Given the description of an element on the screen output the (x, y) to click on. 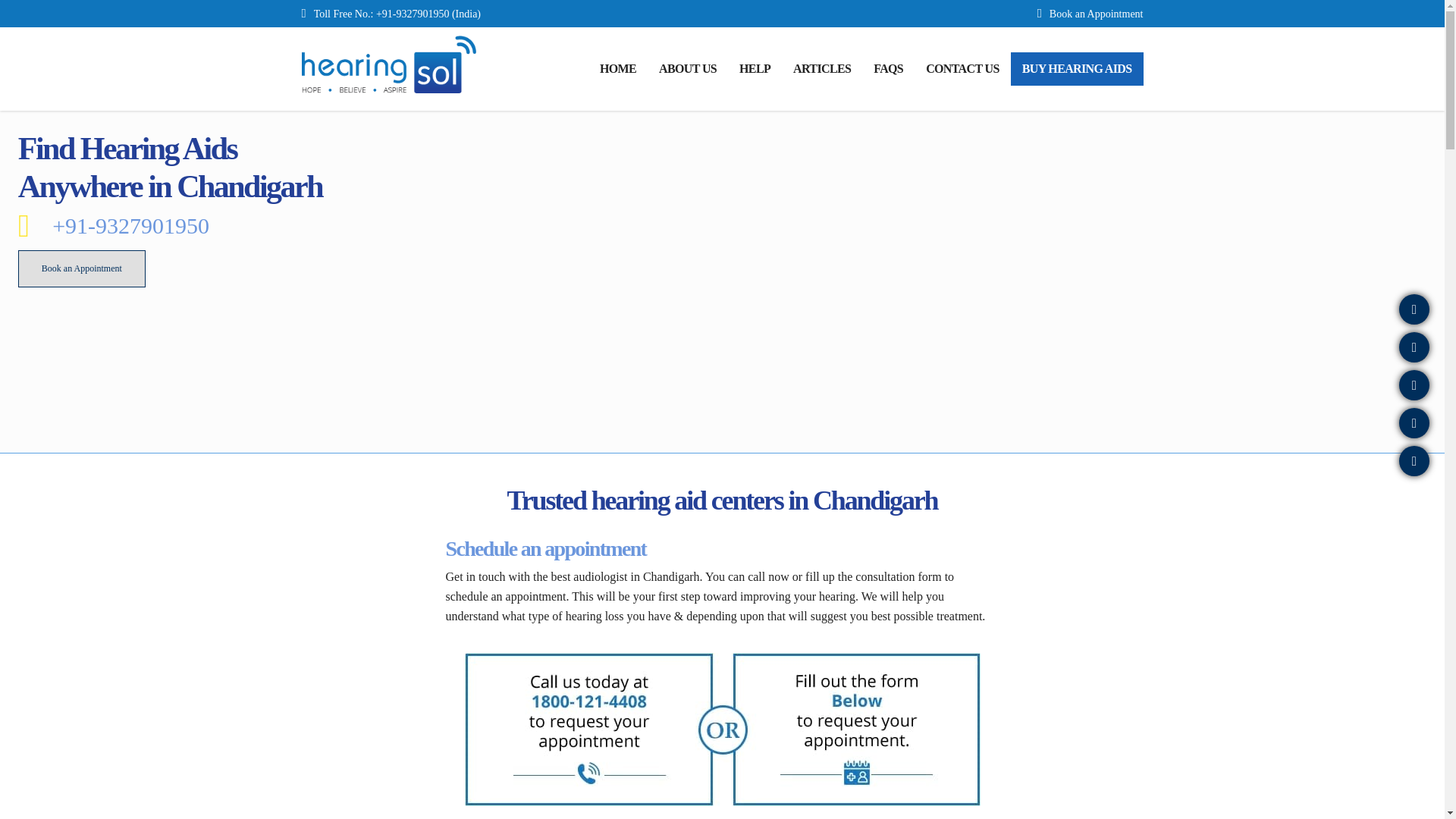
Book an Appointment (1095, 13)
FAQS (887, 68)
ABOUT US (687, 68)
hearing consultation (721, 728)
BUY HEARING AIDS (1076, 68)
ARTICLES (821, 68)
CONTACT US (962, 68)
HOME (617, 68)
HELP (754, 68)
Book an Appointment (81, 268)
